Given the description of an element on the screen output the (x, y) to click on. 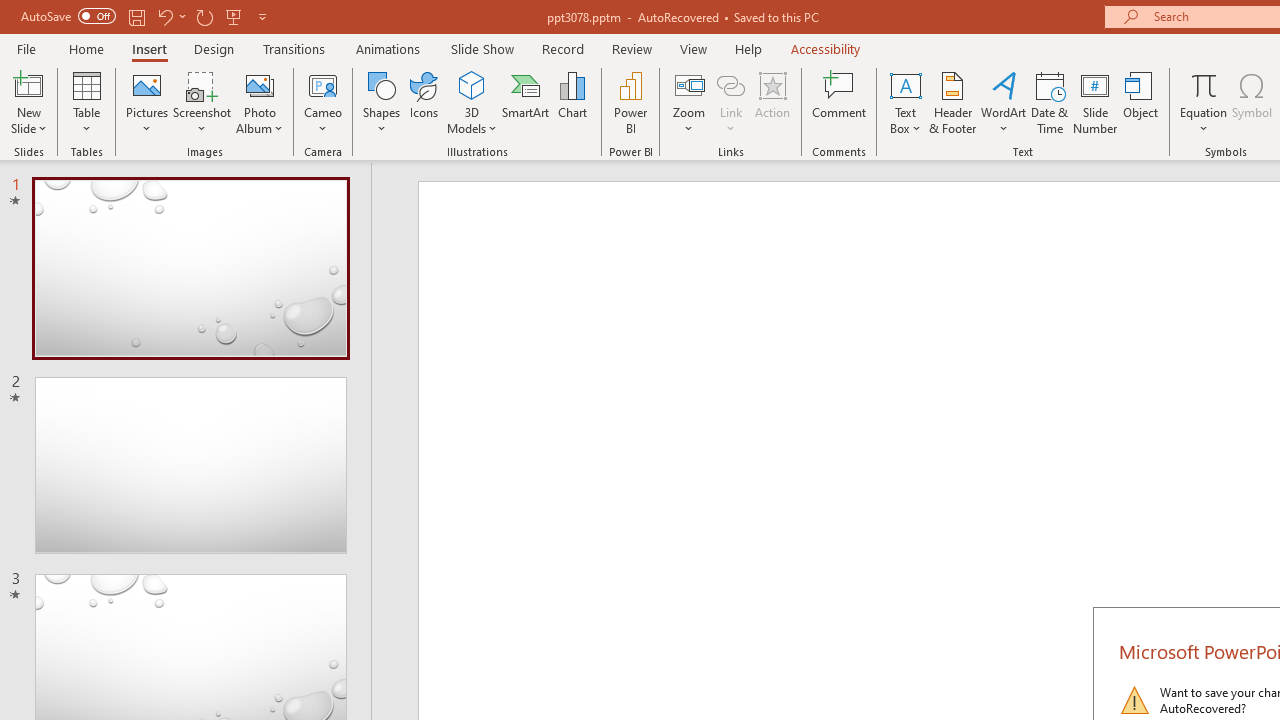
New Photo Album... (259, 84)
Symbol... (1252, 102)
Equation (1203, 102)
Slide Number (1095, 102)
Pictures (147, 102)
Power BI (630, 102)
